Given the description of an element on the screen output the (x, y) to click on. 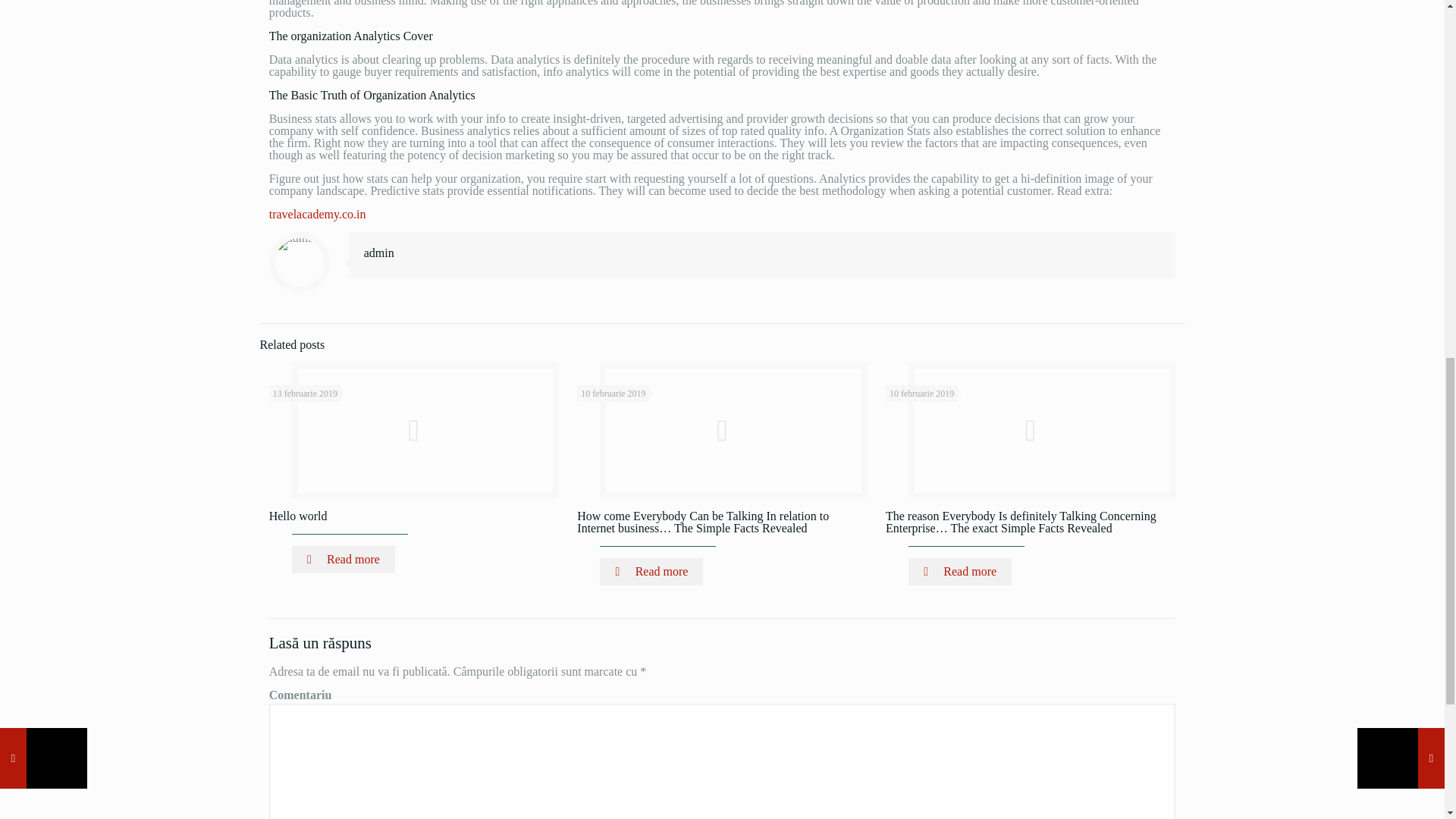
admin (379, 252)
travelacademy.co.in (317, 214)
Read more (343, 559)
Hello world (298, 515)
Read more (959, 571)
Read more (651, 571)
